Given the description of an element on the screen output the (x, y) to click on. 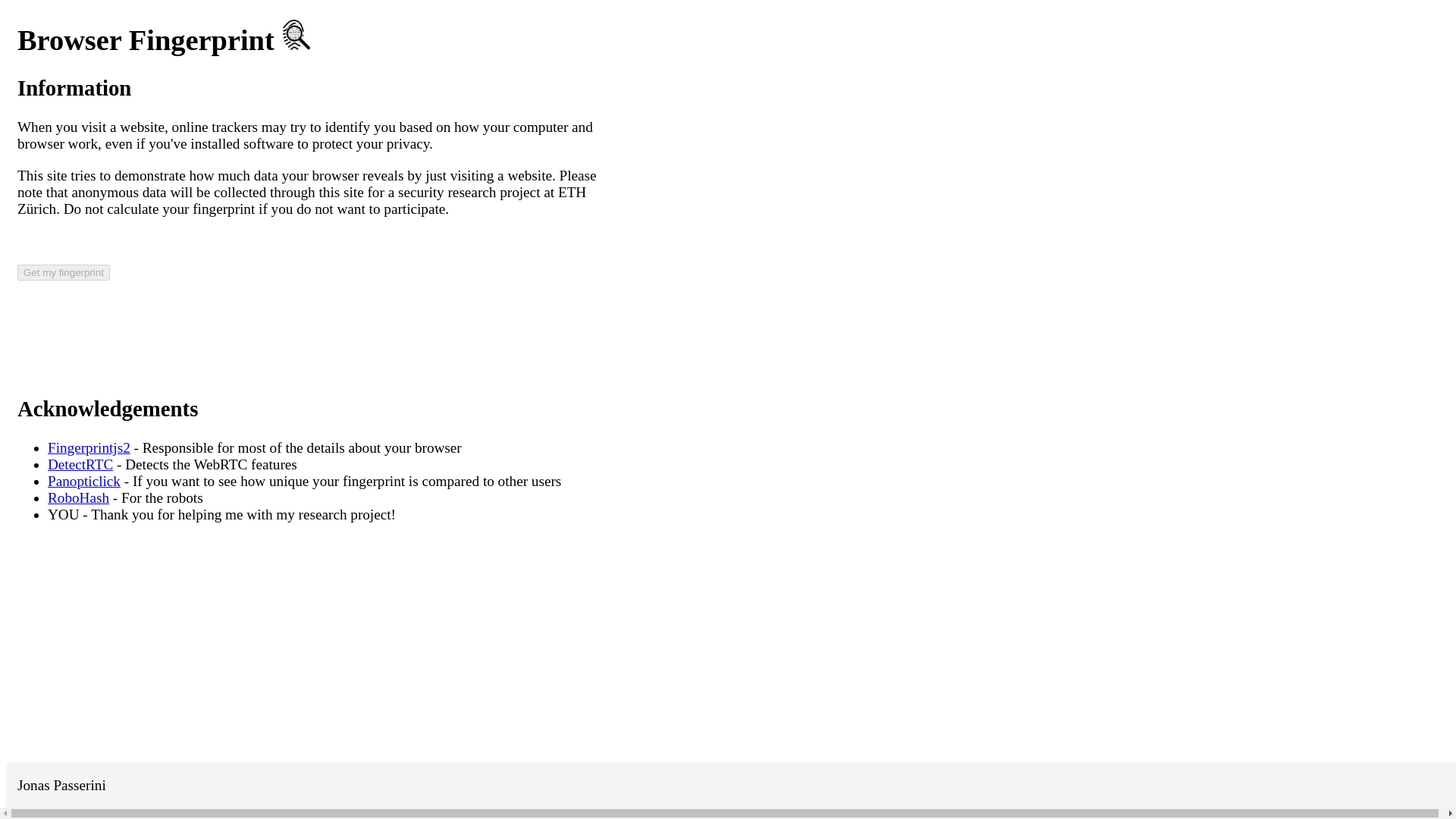
Get my fingerprint (63, 272)
RoboHash (78, 497)
DetectRTC (80, 464)
Panopticlick (84, 480)
Fingerprintjs2 (89, 447)
